Given the description of an element on the screen output the (x, y) to click on. 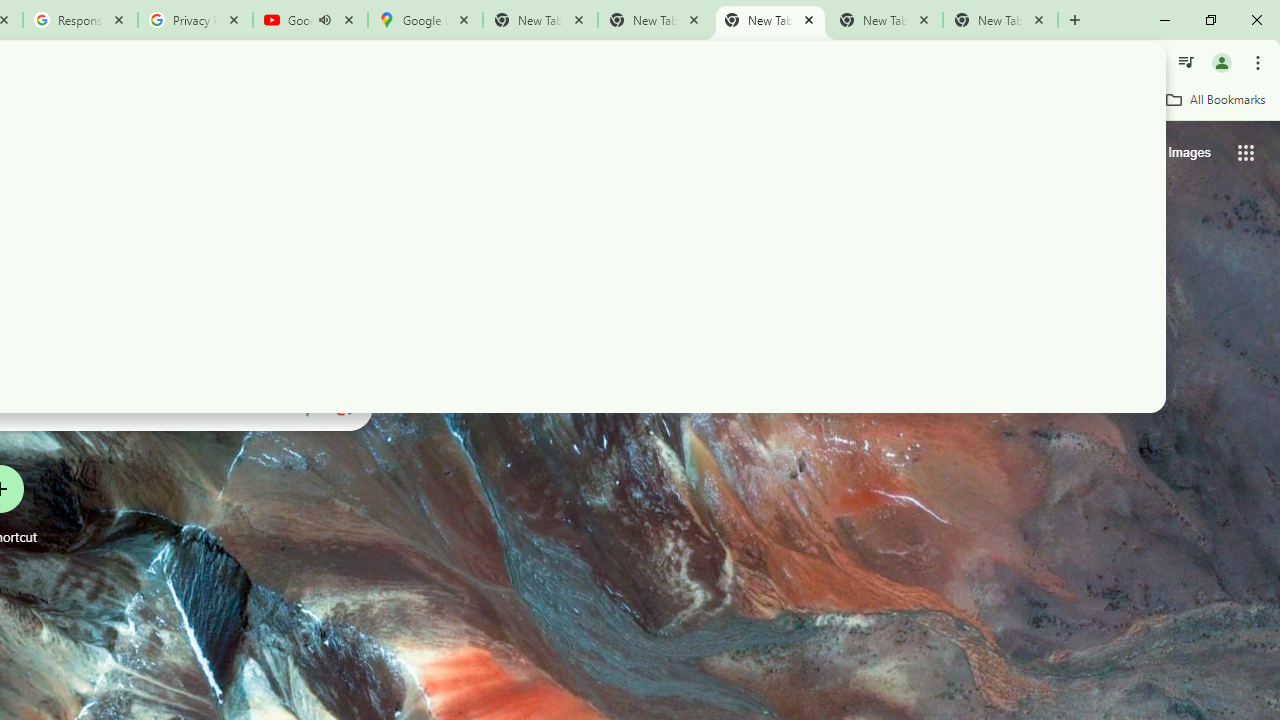
Google Maps (424, 20)
New Tab (1000, 20)
Mute tab (324, 20)
